Given the description of an element on the screen output the (x, y) to click on. 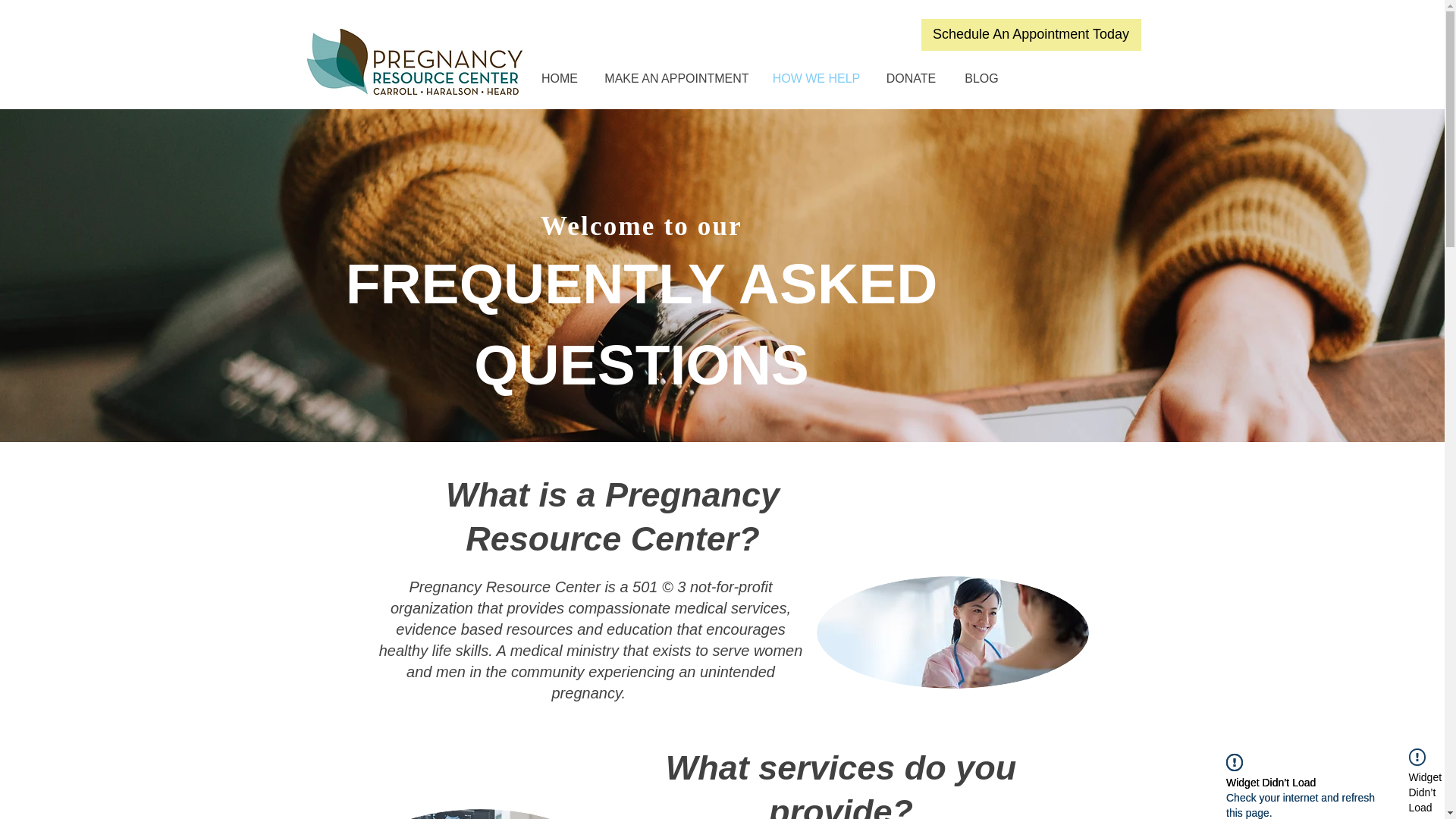
MAKE AN APPOINTMENT (676, 78)
BLOG (981, 78)
Schedule An Appointment Today (1030, 34)
HOME (558, 78)
DONATE (911, 78)
HOW WE HELP (816, 78)
